Given the description of an element on the screen output the (x, y) to click on. 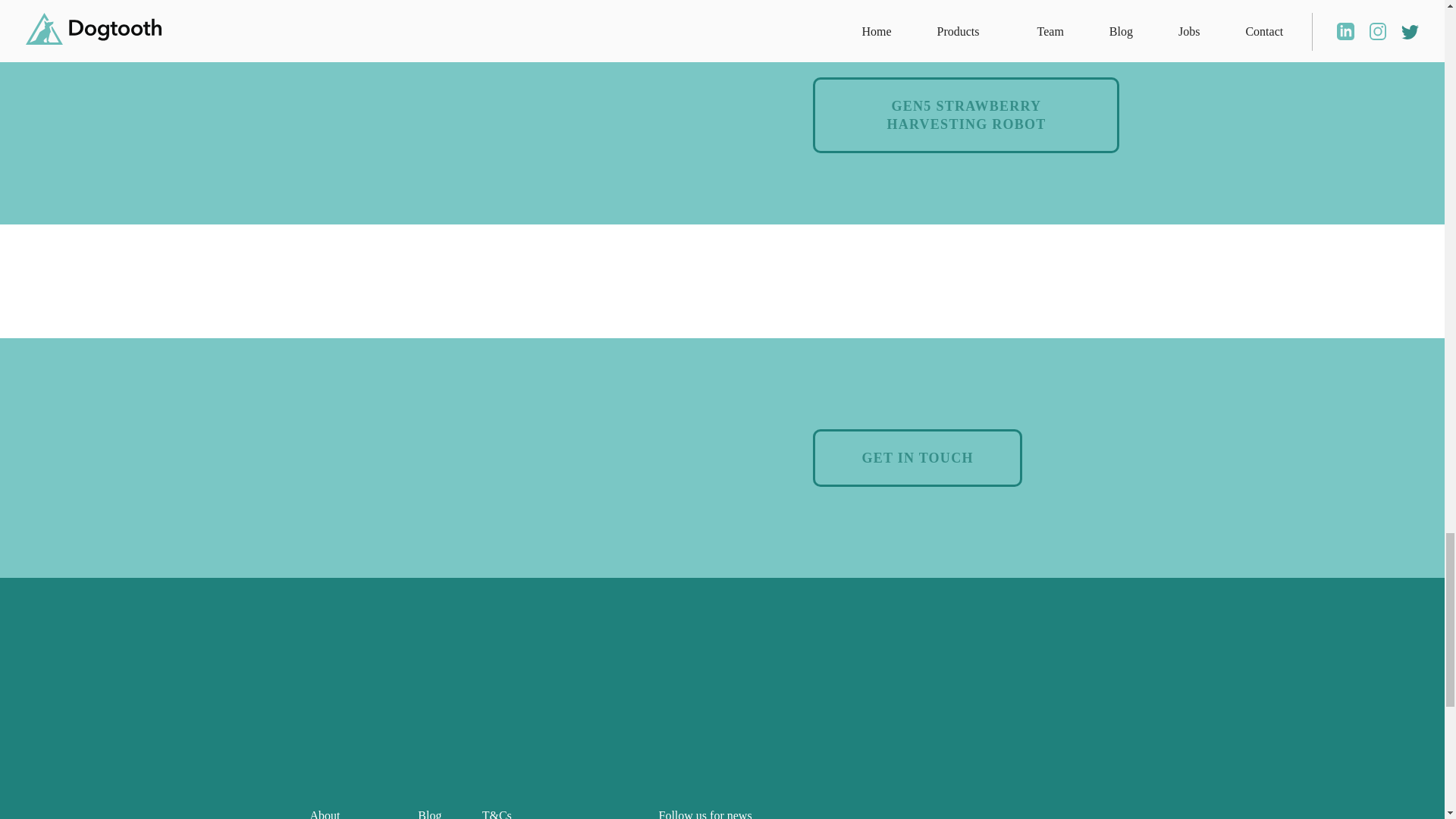
GET IN TOUCH (917, 457)
Blog (429, 814)
About (323, 814)
GEN5 STRAWBERRY HARVESTING ROBOT (965, 114)
